Given the description of an element on the screen output the (x, y) to click on. 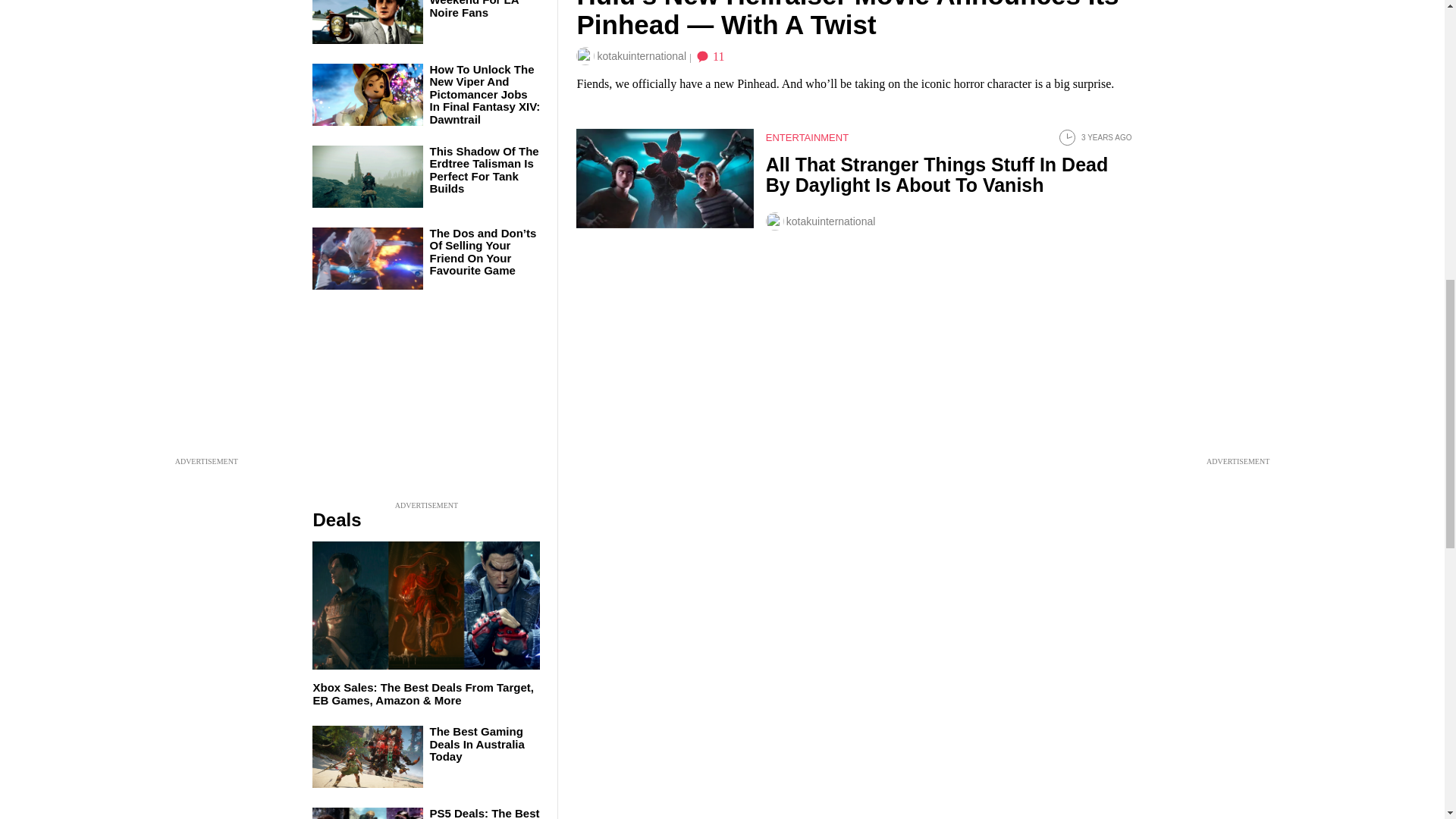
3rd party ad content (426, 403)
